Given the description of an element on the screen output the (x, y) to click on. 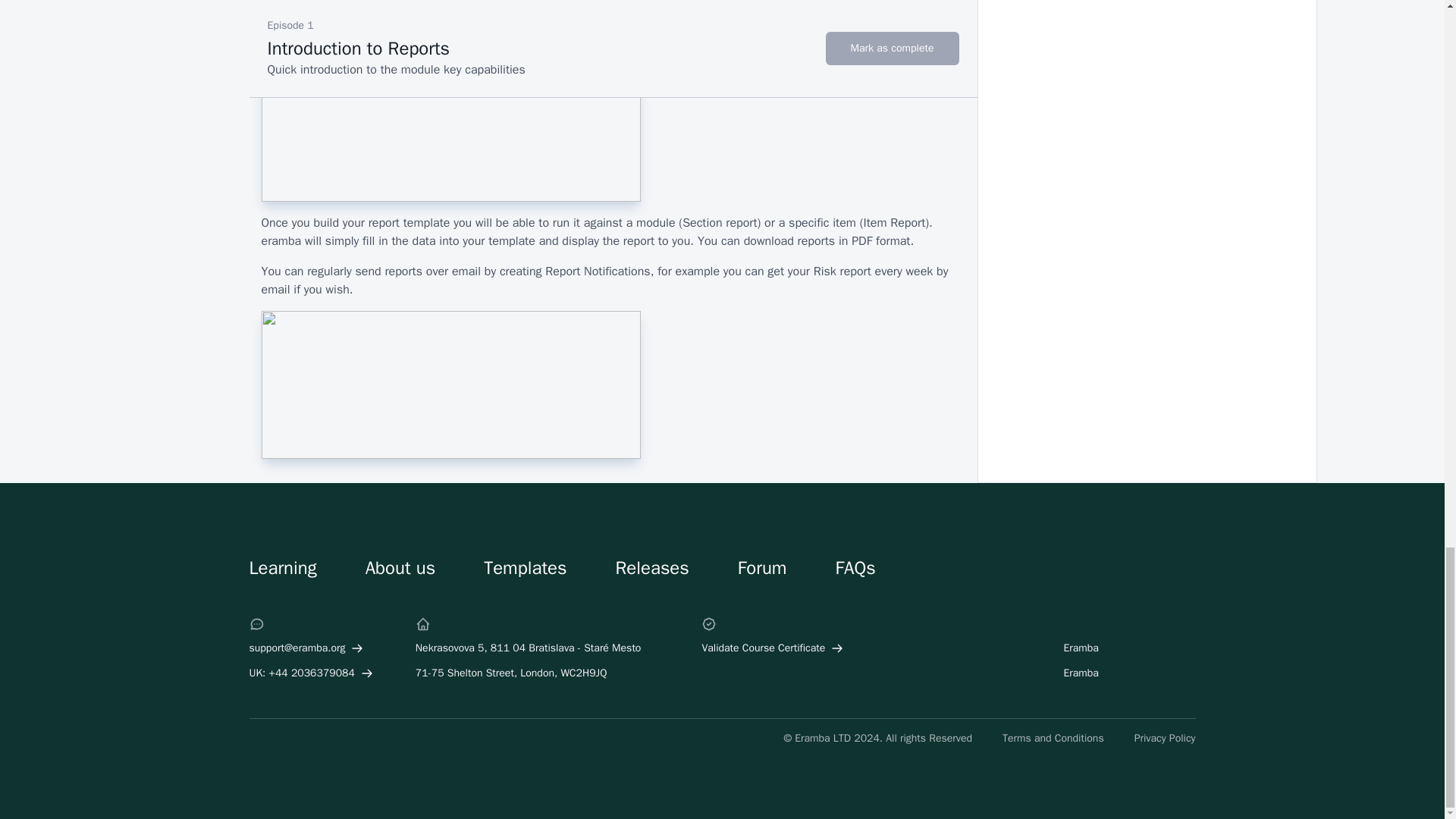
FAQs (854, 567)
Eramba (1088, 648)
Forum (762, 567)
Eramba Linkedin (1088, 648)
FAQs (854, 567)
About us (400, 567)
Eramba Youtube (1088, 673)
Learning (281, 567)
Templates (524, 567)
Privacy Policy (1164, 738)
